Given the description of an element on the screen output the (x, y) to click on. 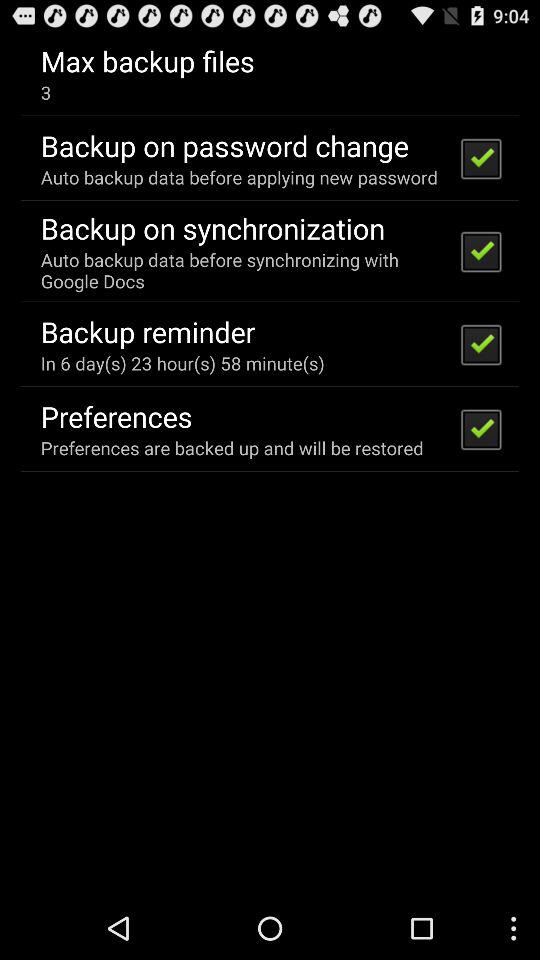
turn off icon below backup reminder item (182, 362)
